Given the description of an element on the screen output the (x, y) to click on. 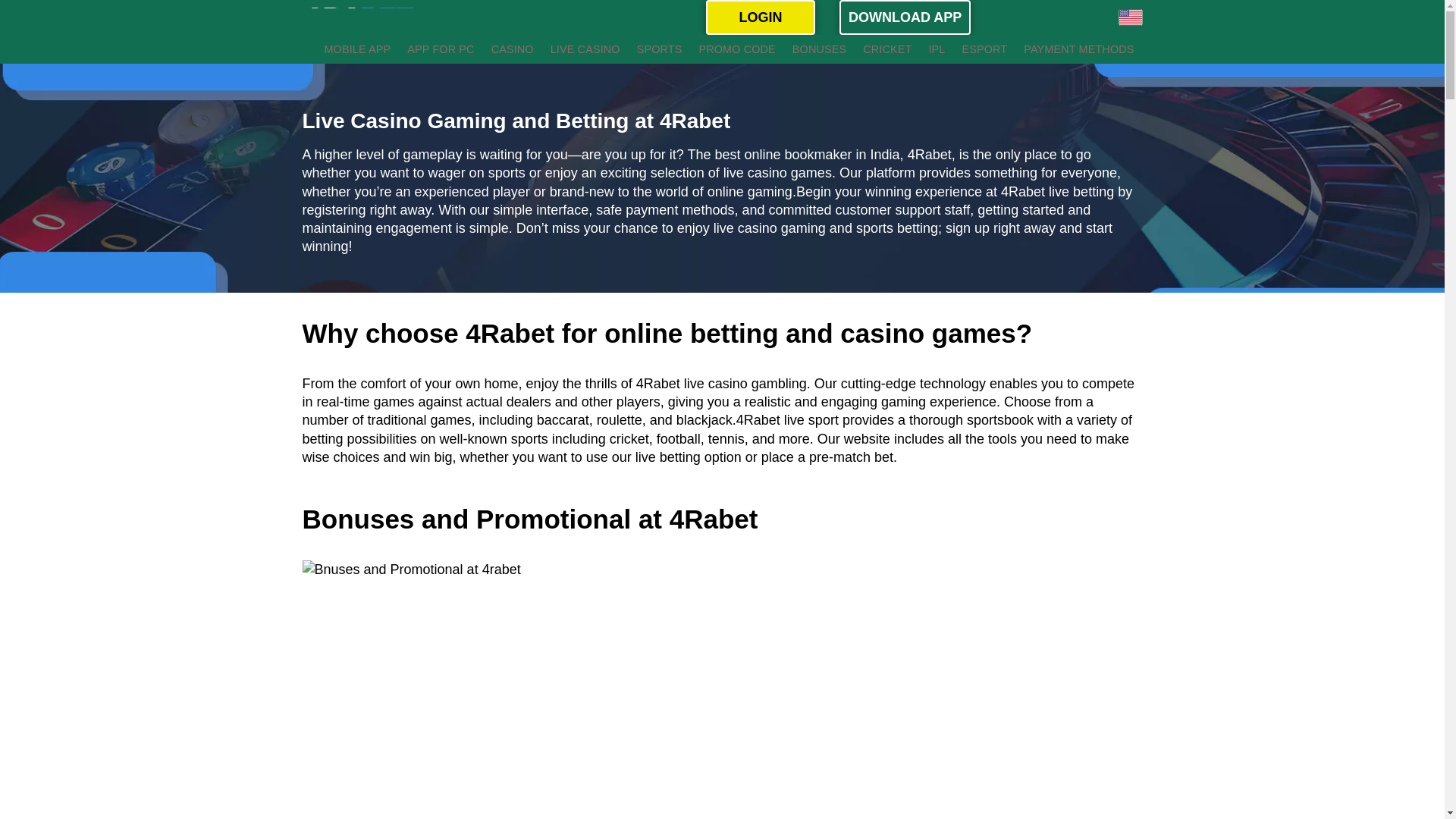
BONUSES (819, 49)
IPL (936, 49)
SPORTS (659, 49)
DOWNLOAD APP (905, 17)
APP FOR PC (439, 49)
PAYMENT METHODS (1077, 49)
4Rabet (929, 154)
MOBILE APP (356, 49)
LOGIN (760, 17)
CRICKET (887, 49)
LIVE CASINO (584, 49)
CASINO (512, 49)
ESPORT (983, 49)
PROMO CODE (736, 49)
